Given the description of an element on the screen output the (x, y) to click on. 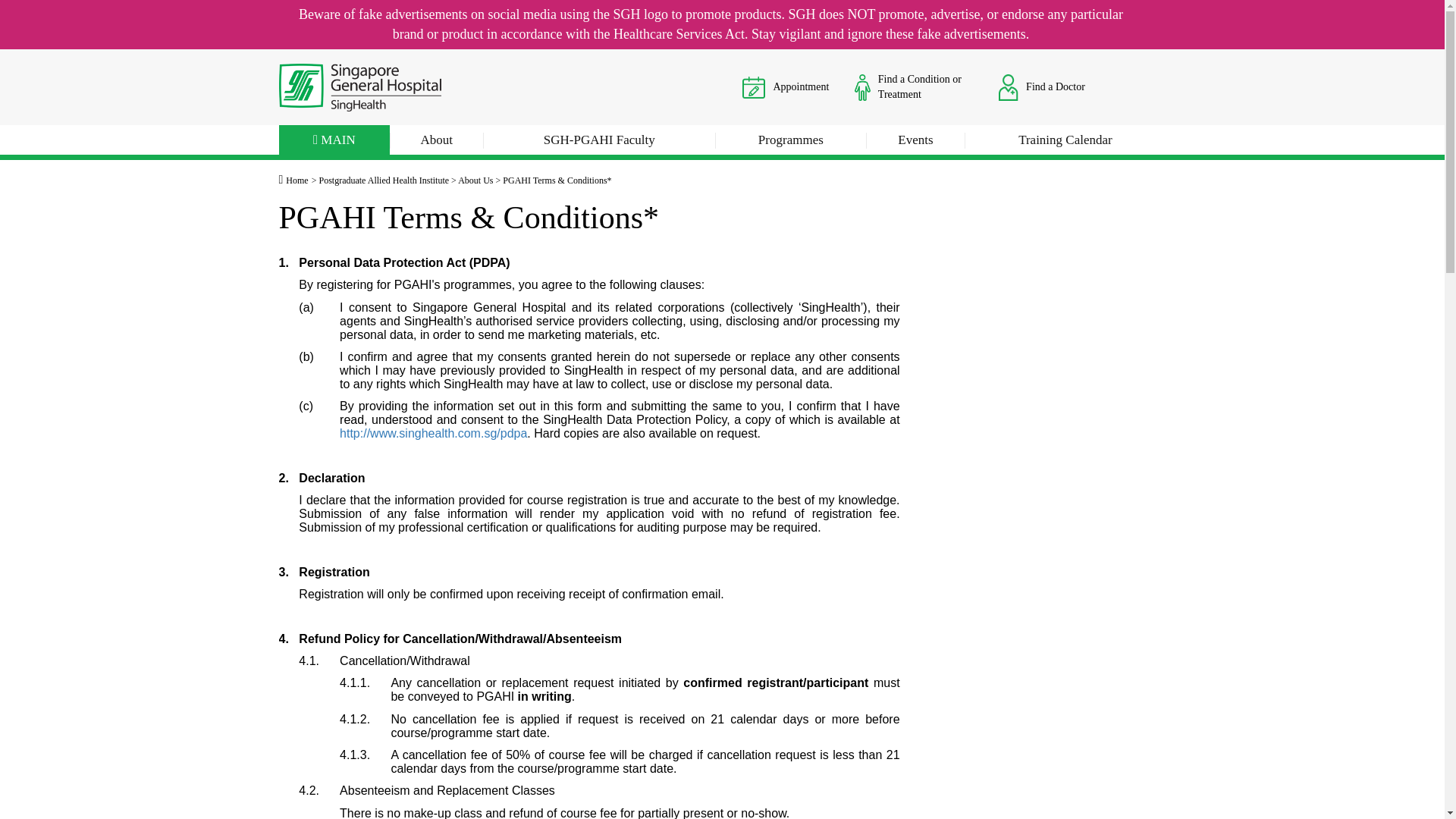
Find a Condition or Treatment (913, 86)
MAIN (334, 142)
Appointment (785, 86)
Find a Doctor (1042, 86)
Appointment (753, 87)
